Given the description of an element on the screen output the (x, y) to click on. 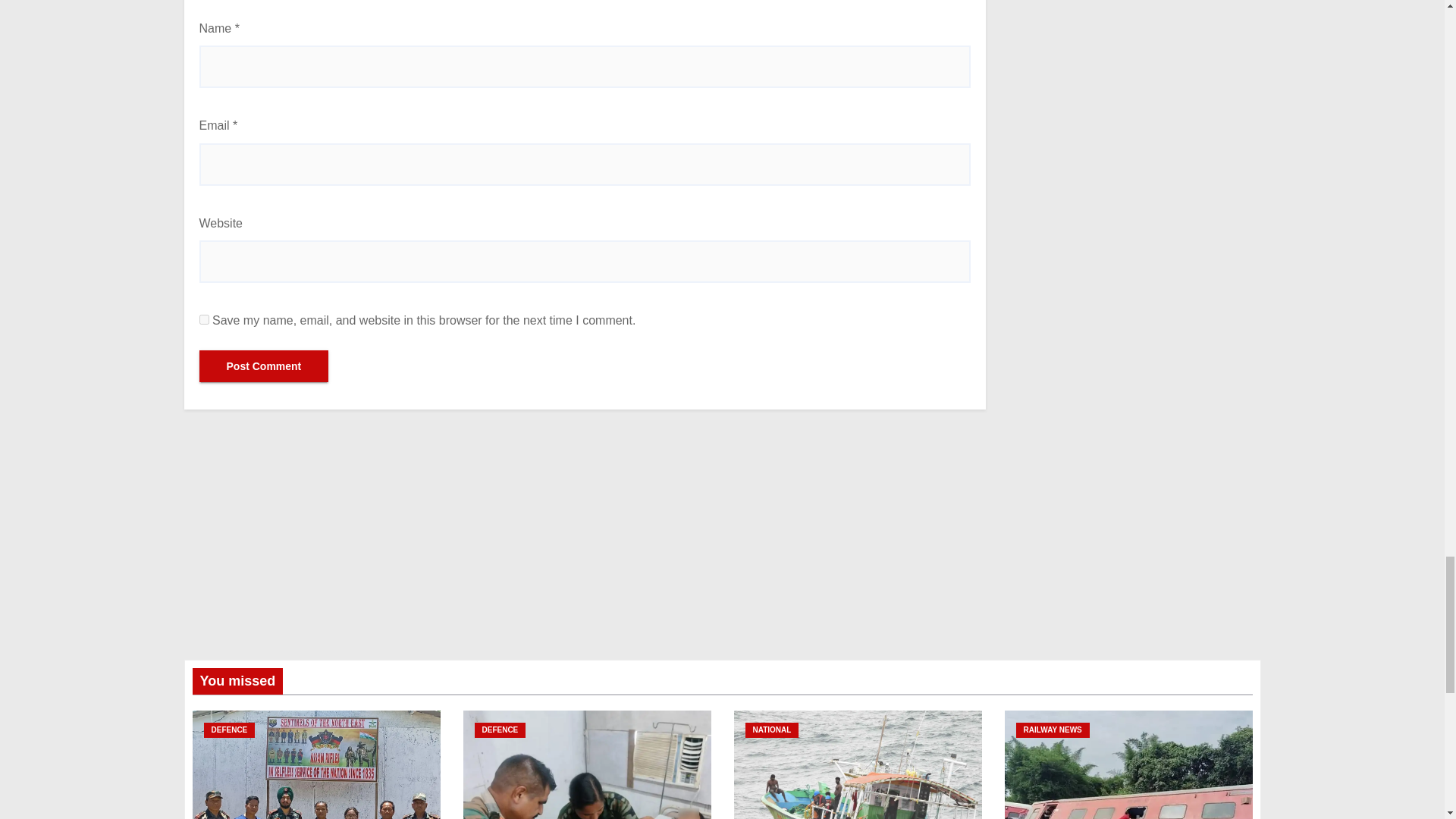
Post Comment (263, 366)
yes (203, 319)
